Given the description of an element on the screen output the (x, y) to click on. 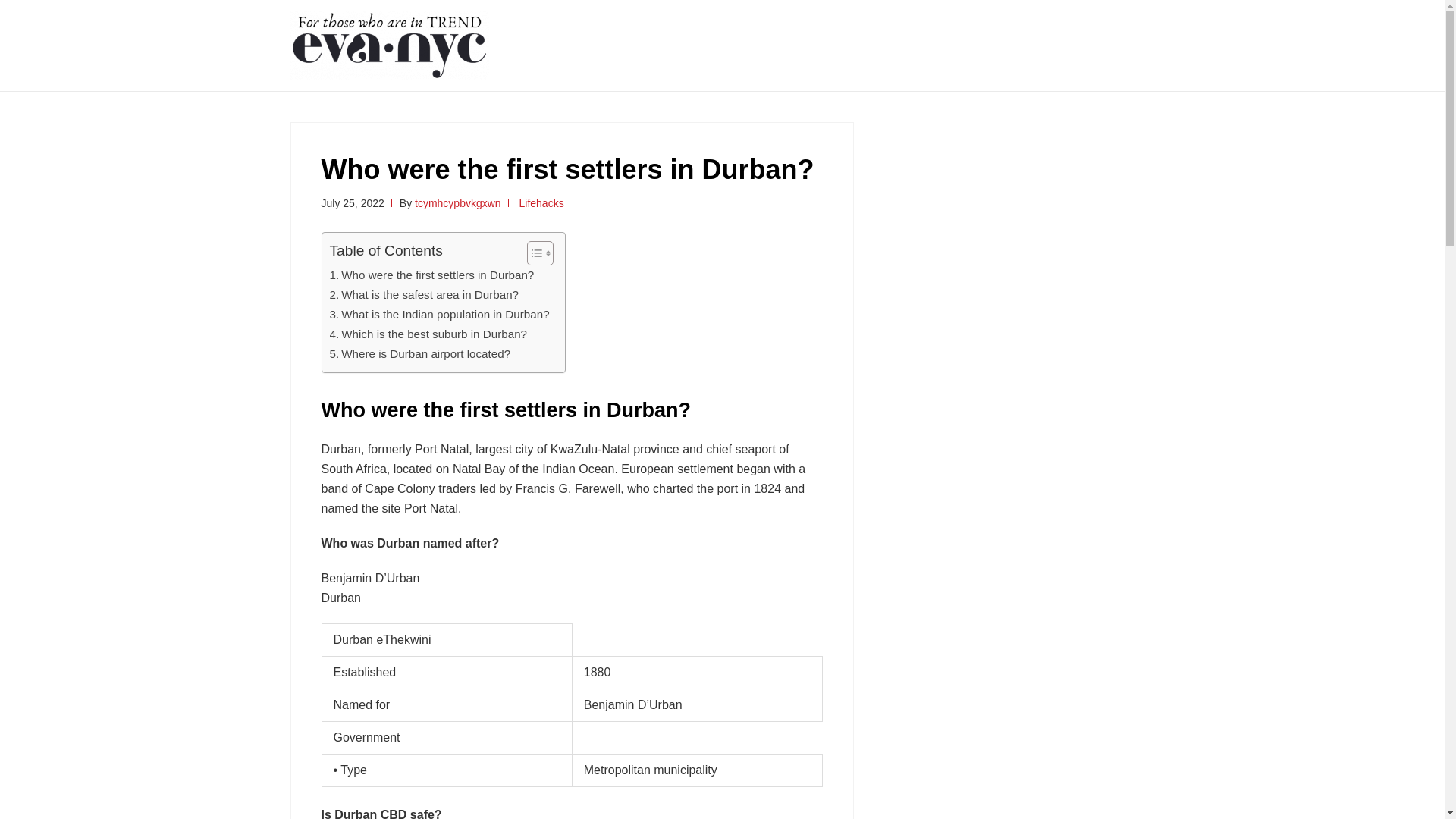
Which is the best suburb in Durban? (428, 334)
What is the safest area in Durban? (423, 294)
Where is Durban airport located? (420, 353)
View all posts by tcymhcypbvkgxwn (457, 203)
tcymhcypbvkgxwn (457, 203)
Where is Durban airport located? (420, 353)
Lifehacks (541, 203)
Who were the first settlers in Durban? (431, 275)
Who were the first settlers in Durban? (431, 275)
What is the Indian population in Durban? (438, 314)
